Given the description of an element on the screen output the (x, y) to click on. 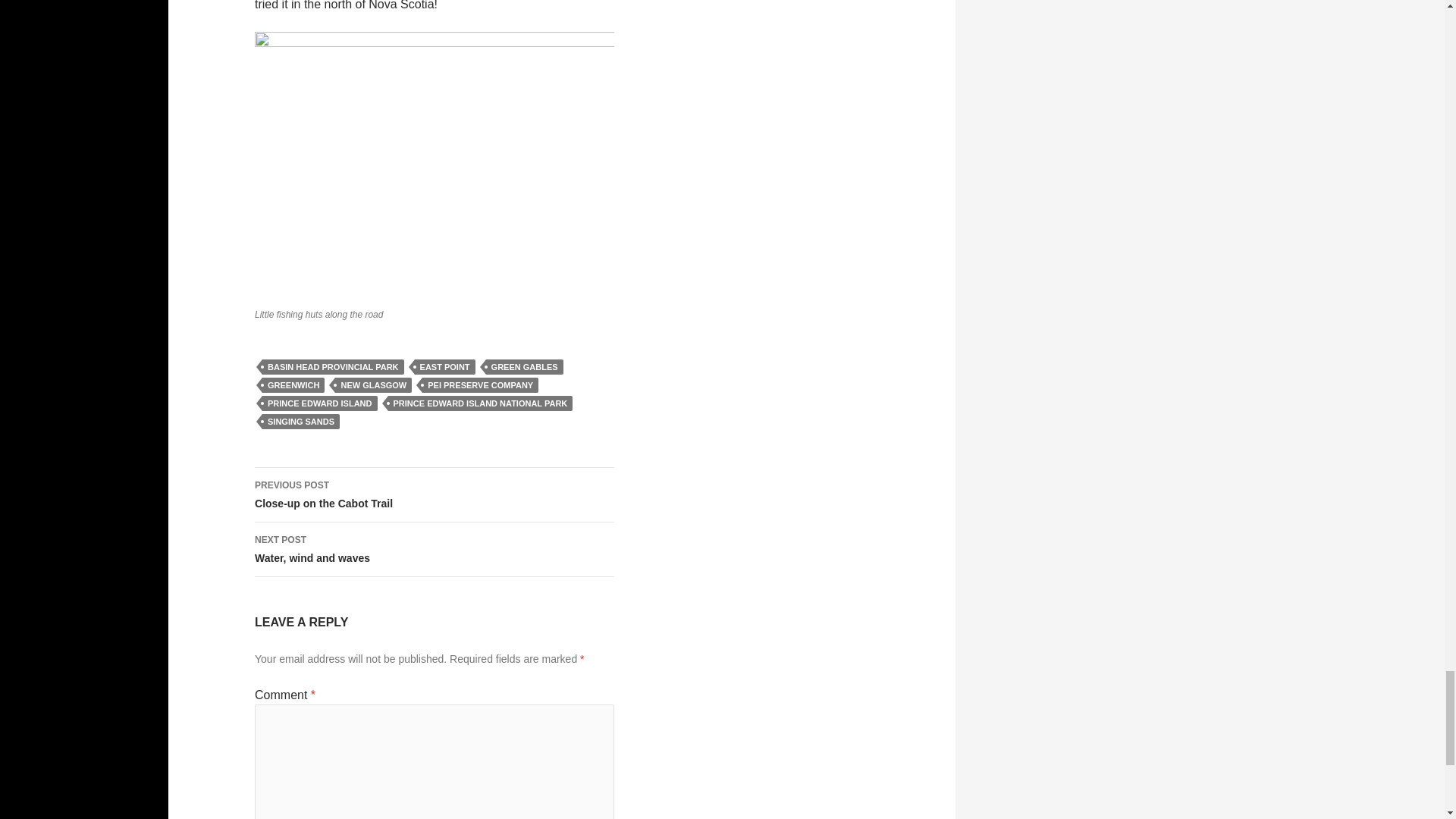
PRINCE EDWARD ISLAND NATIONAL PARK (434, 494)
PRINCE EDWARD ISLAND (480, 403)
GREEN GABLES (319, 403)
BASIN HEAD PROVINCIAL PARK (524, 366)
PEI PRESERVE COMPANY (333, 366)
SINGING SANDS (480, 385)
NEW GLASGOW (434, 549)
EAST POINT (300, 421)
GREENWICH (373, 385)
